Given the description of an element on the screen output the (x, y) to click on. 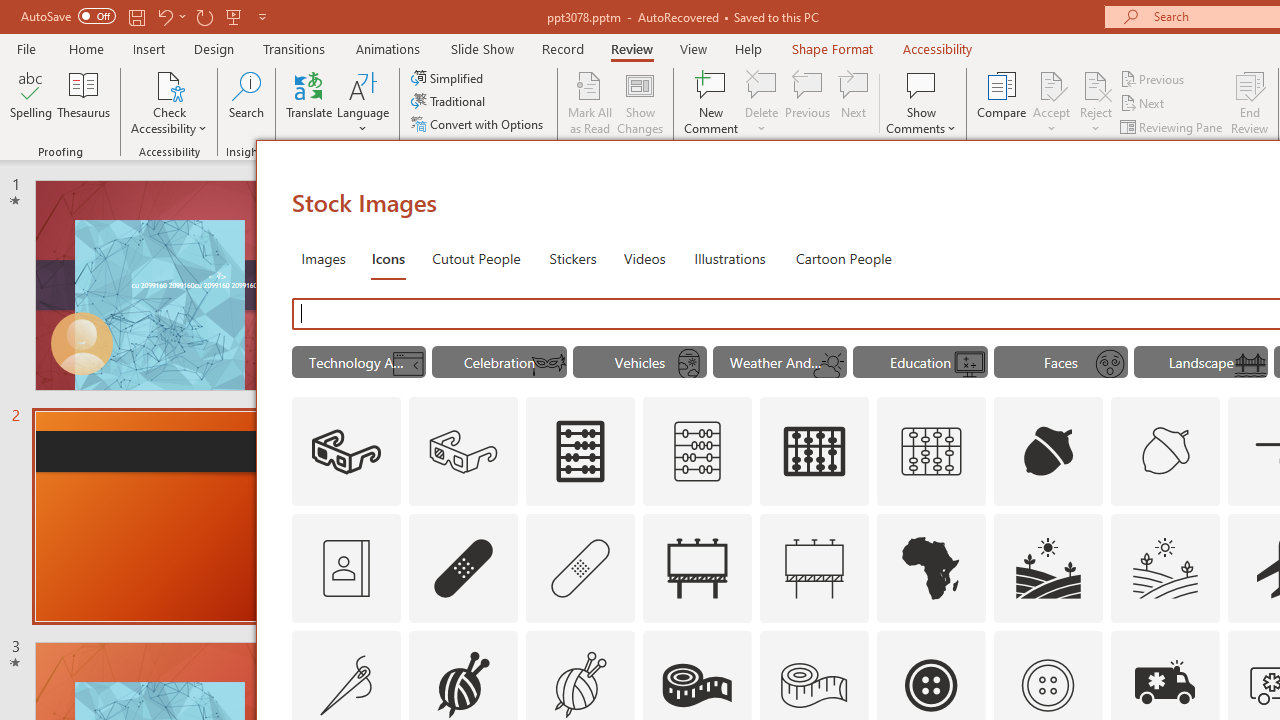
Images (322, 258)
Reject Change (1096, 84)
AutomationID: Icons_PartialSun_M (829, 364)
AutomationID: Icons_Abacus (580, 452)
AutomationID: Icons_AdhesiveBandage (463, 568)
AutomationID: Icons_Africa (931, 568)
Thesaurus... (83, 102)
AutomationID: Icons_DizzyFace_M (1109, 364)
Translate (309, 102)
